Given the description of an element on the screen output the (x, y) to click on. 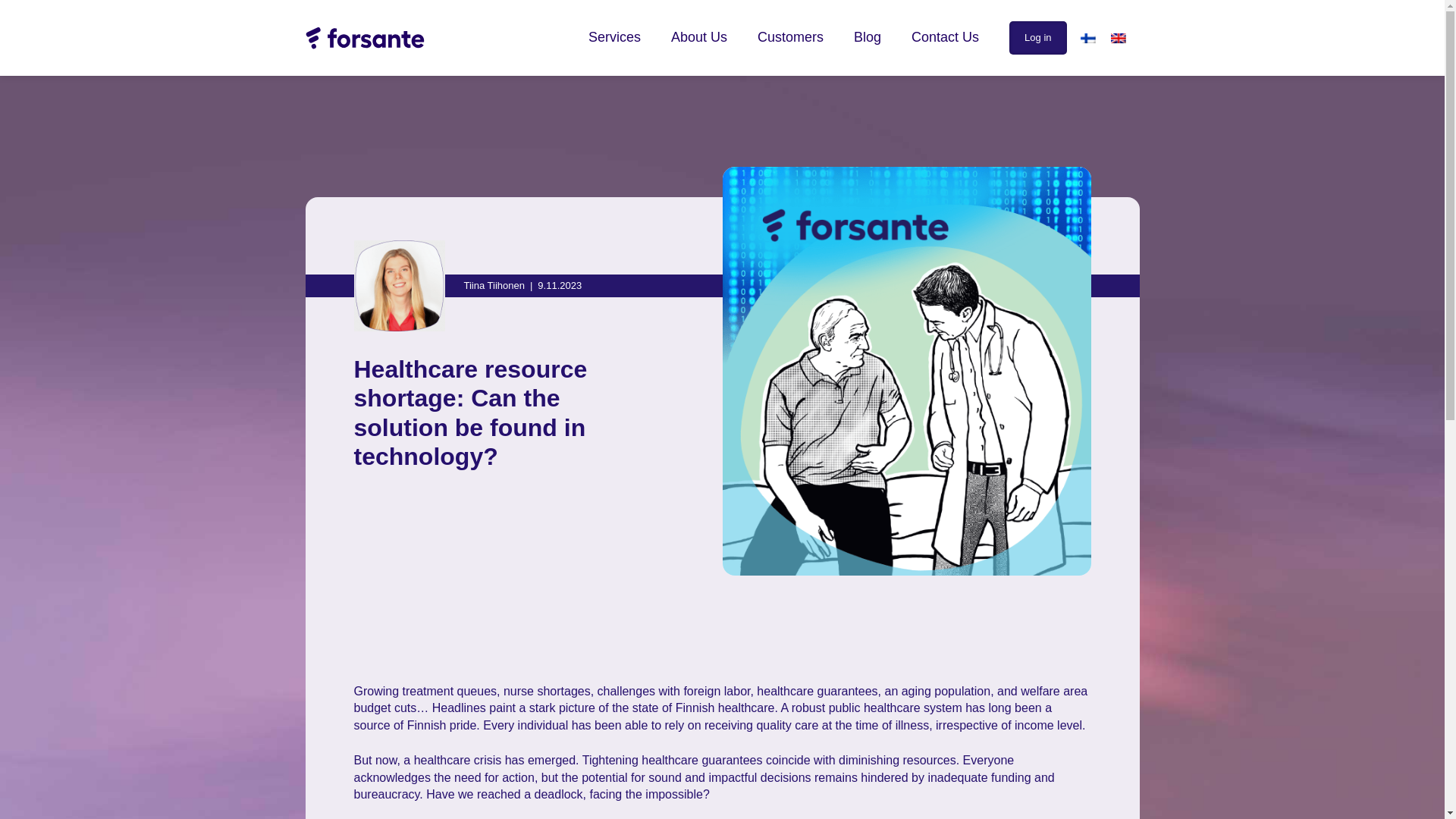
Customers (790, 36)
Services (614, 36)
Blog (866, 36)
About Us (698, 36)
Log in (1037, 37)
Contact Us (944, 36)
